Given the description of an element on the screen output the (x, y) to click on. 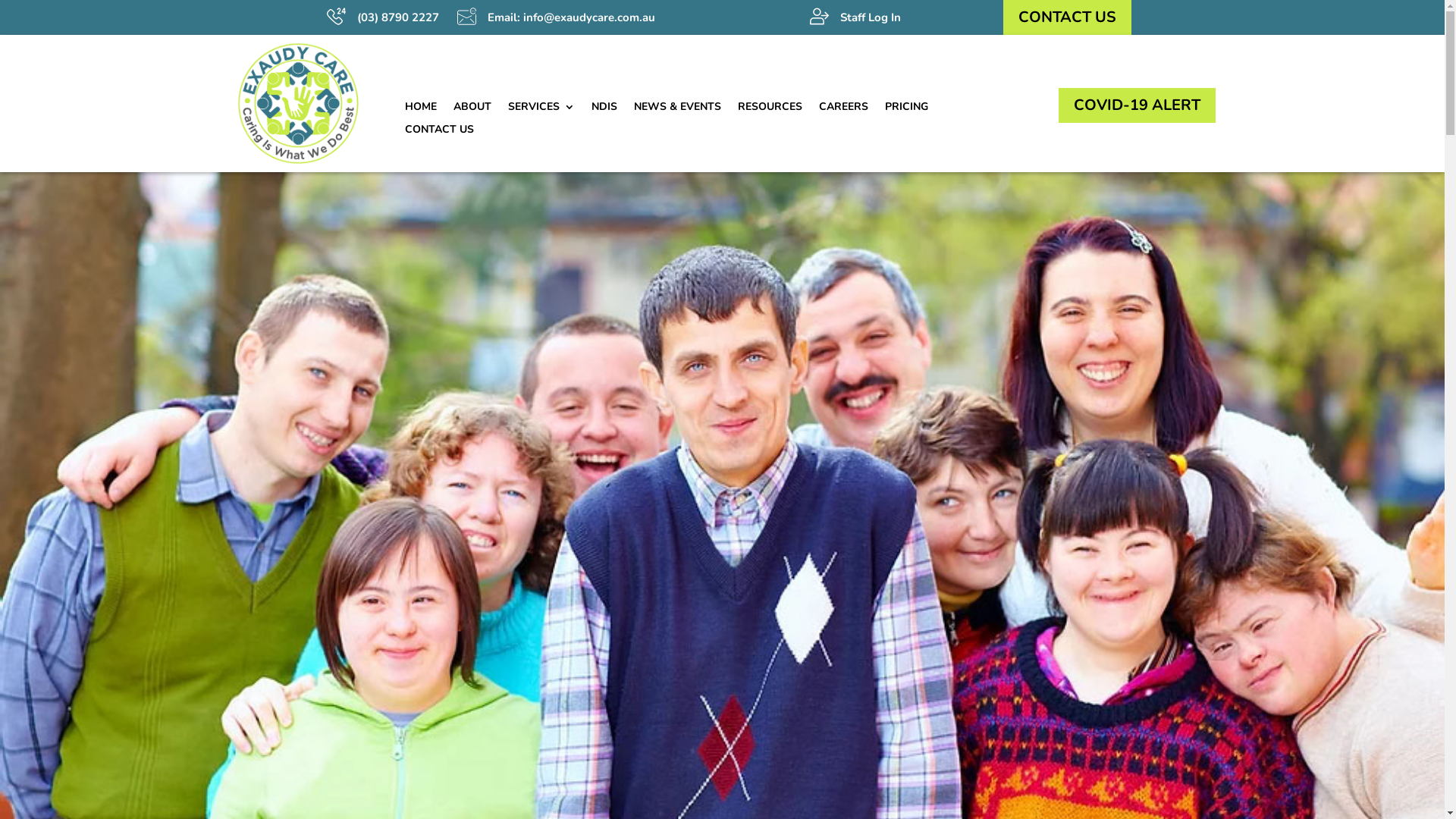
Staff Log In Element type: text (870, 17)
Email: info@exaudycare.com.au Element type: text (570, 17)
(03) 8790 2227  Element type: text (398, 17)
ABOUT Element type: text (472, 109)
NDIS Element type: text (604, 109)
SERVICES Element type: text (541, 109)
HOME Element type: text (420, 109)
Exaudy Care Element type: hover (296, 103)
NEWS & EVENTS Element type: text (677, 109)
CONTACT US Element type: text (1067, 17)
COVID-19 ALERT Element type: text (1136, 104)
CONTACT US Element type: text (438, 132)
RESOURCES Element type: text (769, 109)
CAREERS Element type: text (843, 109)
PRICING Element type: text (905, 109)
